Given the description of an element on the screen output the (x, y) to click on. 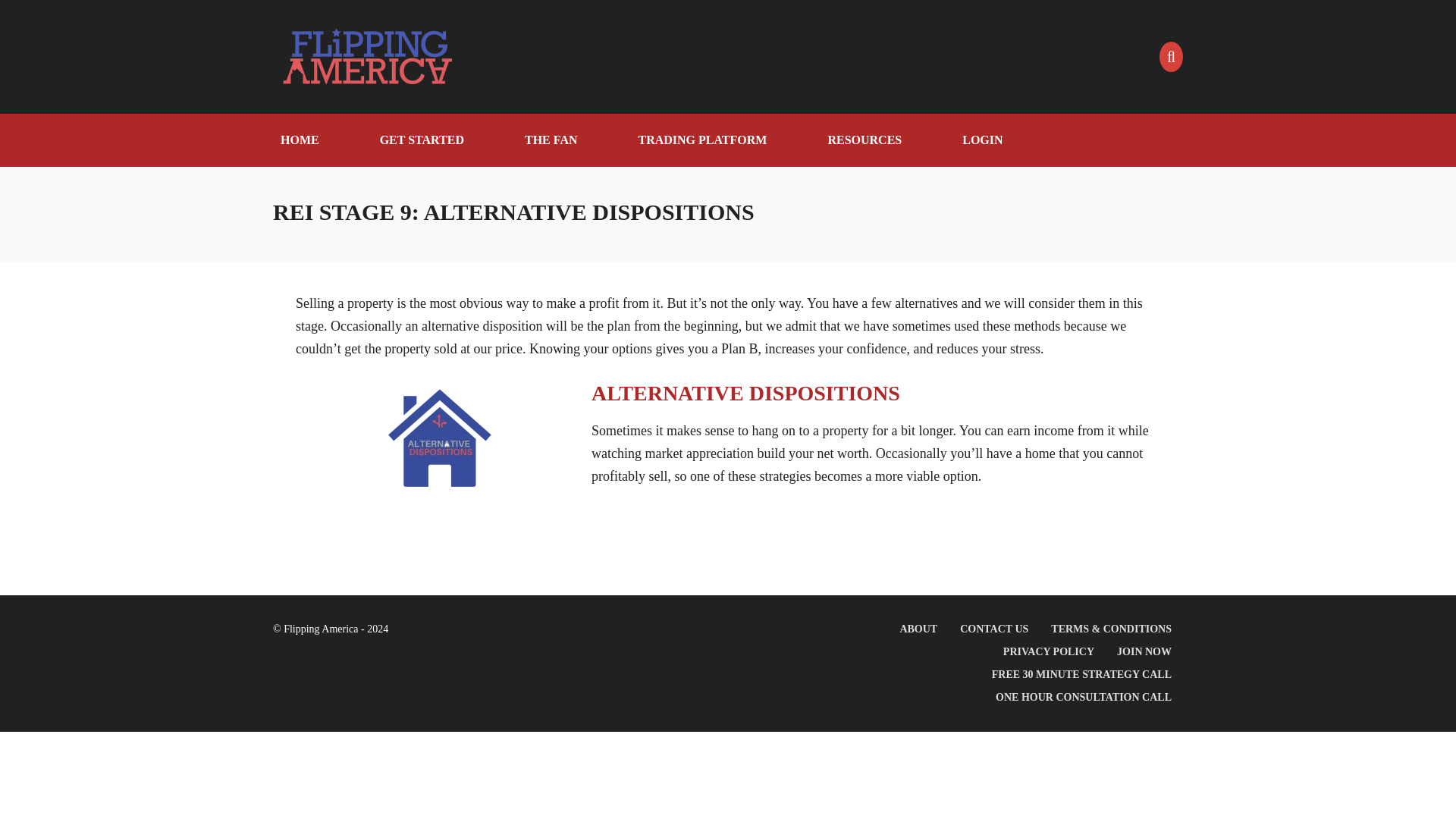
Flipping America (368, 56)
HOME (299, 140)
Flipping America (368, 56)
LOGIN (982, 140)
GET STARTED (421, 140)
RESOURCES (863, 140)
THE FAN (550, 140)
TRADING PLATFORM (702, 140)
